Given the description of an element on the screen output the (x, y) to click on. 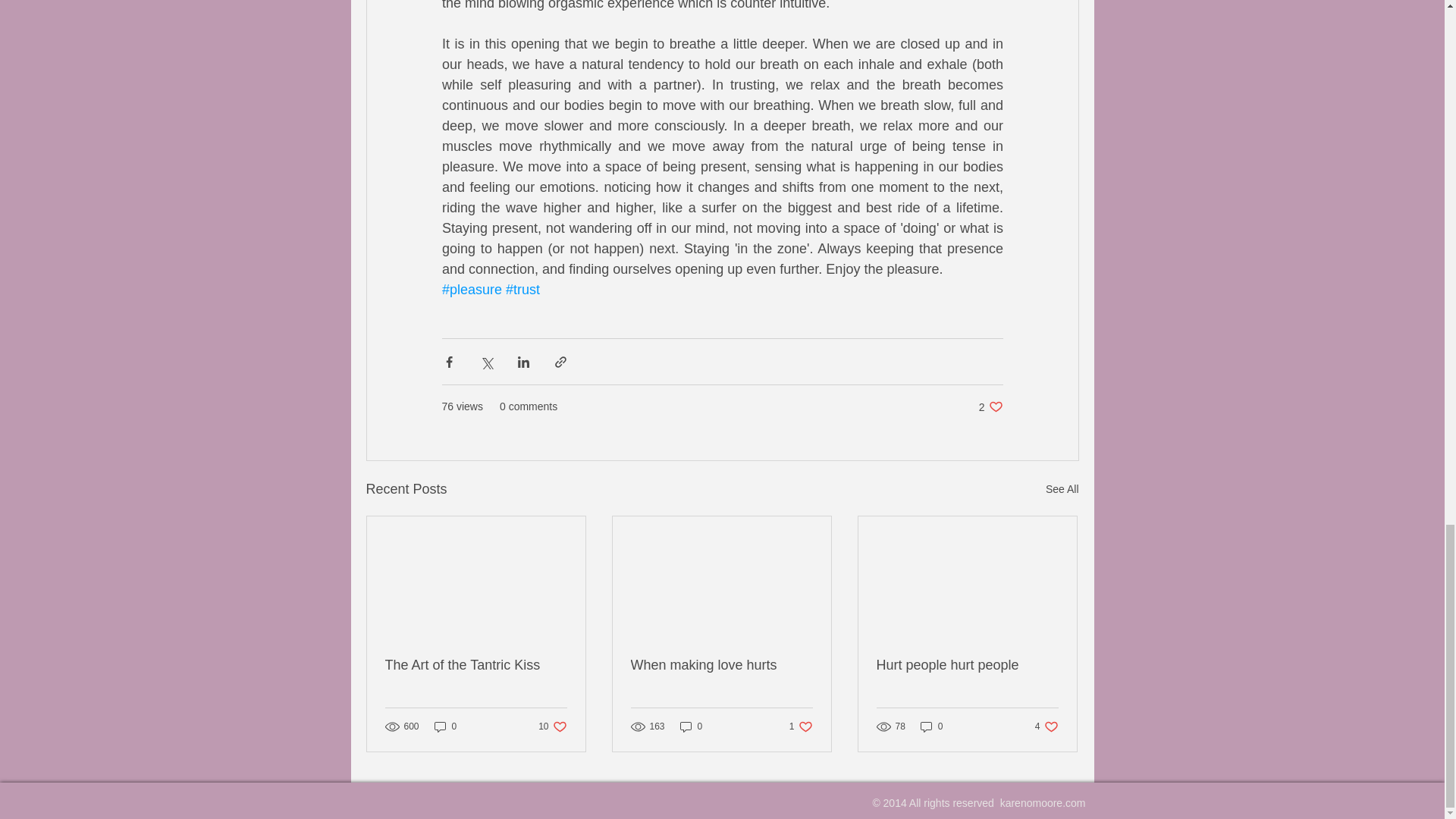
0 (990, 406)
The Art of the Tantric Kiss (931, 726)
0 (552, 726)
See All (800, 726)
0 (476, 665)
When making love hurts (445, 726)
Hurt people hurt people (1061, 489)
